Given the description of an element on the screen output the (x, y) to click on. 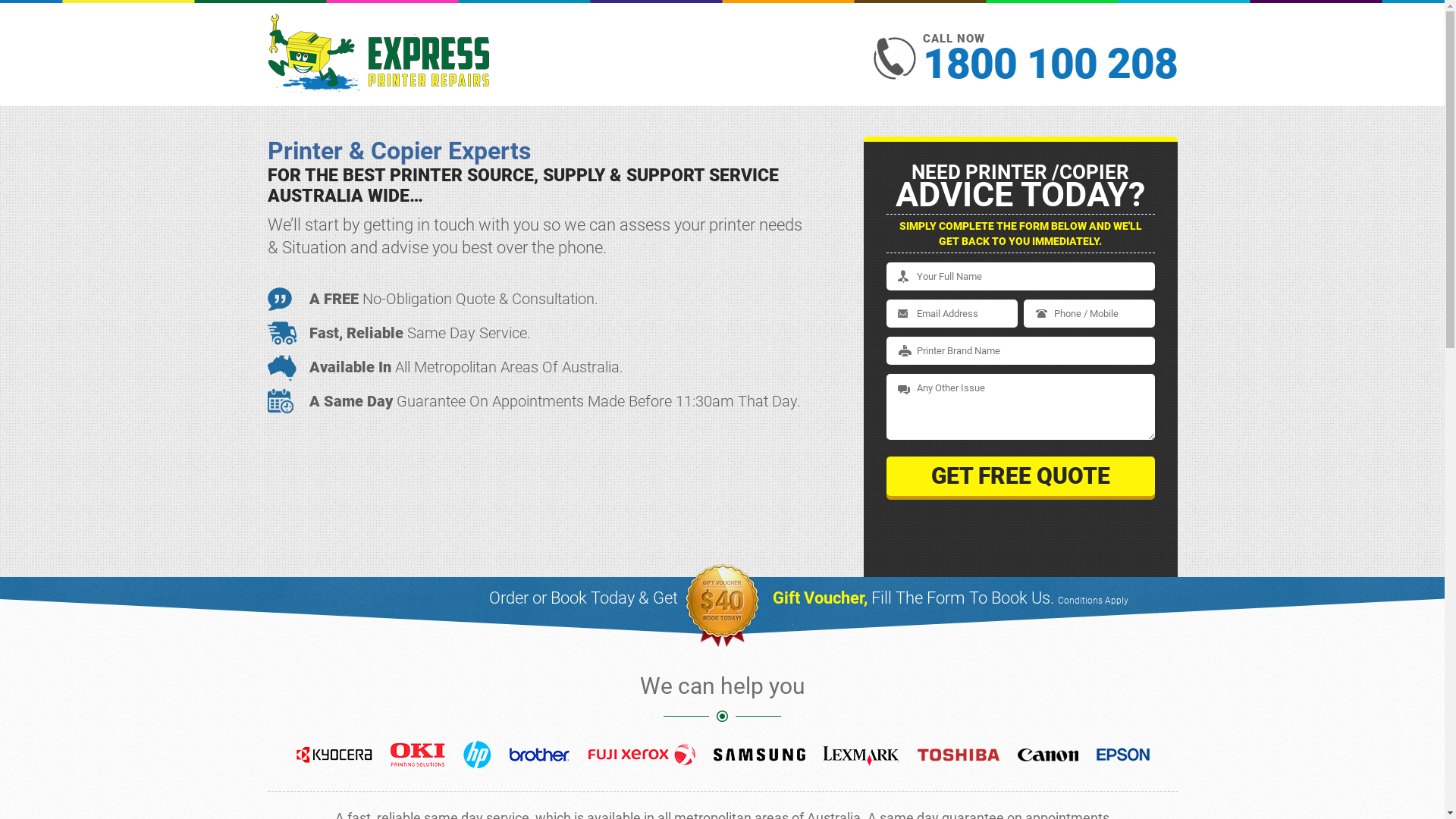
Get Free Quote Element type: text (1019, 475)
1800 100 208 Element type: text (1049, 63)
